Given the description of an element on the screen output the (x, y) to click on. 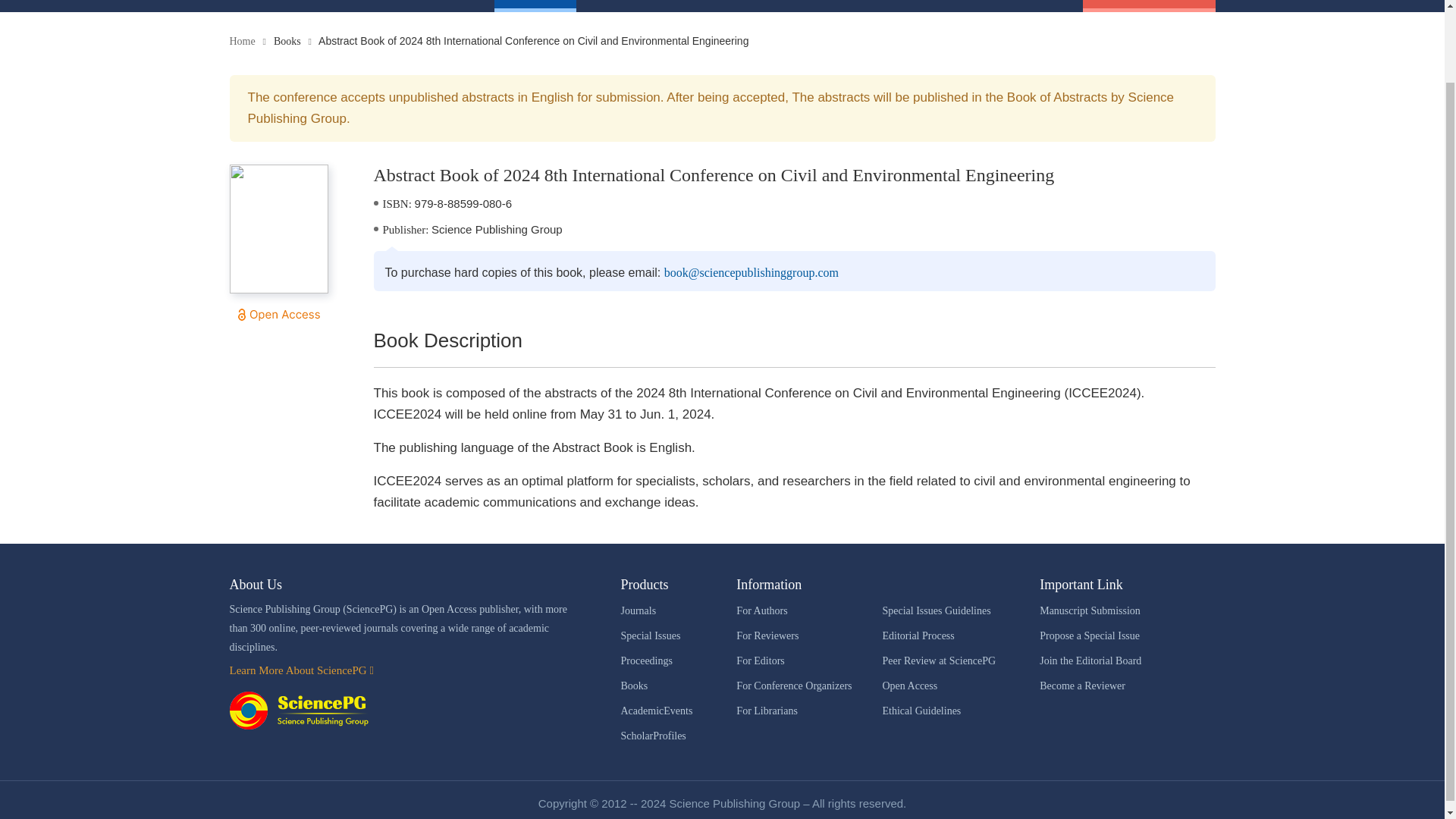
Proceedings (442, 4)
Information (774, 4)
Home (262, 4)
Journals (344, 4)
Books (535, 4)
Events (612, 4)
Join (682, 4)
